Given the description of an element on the screen output the (x, y) to click on. 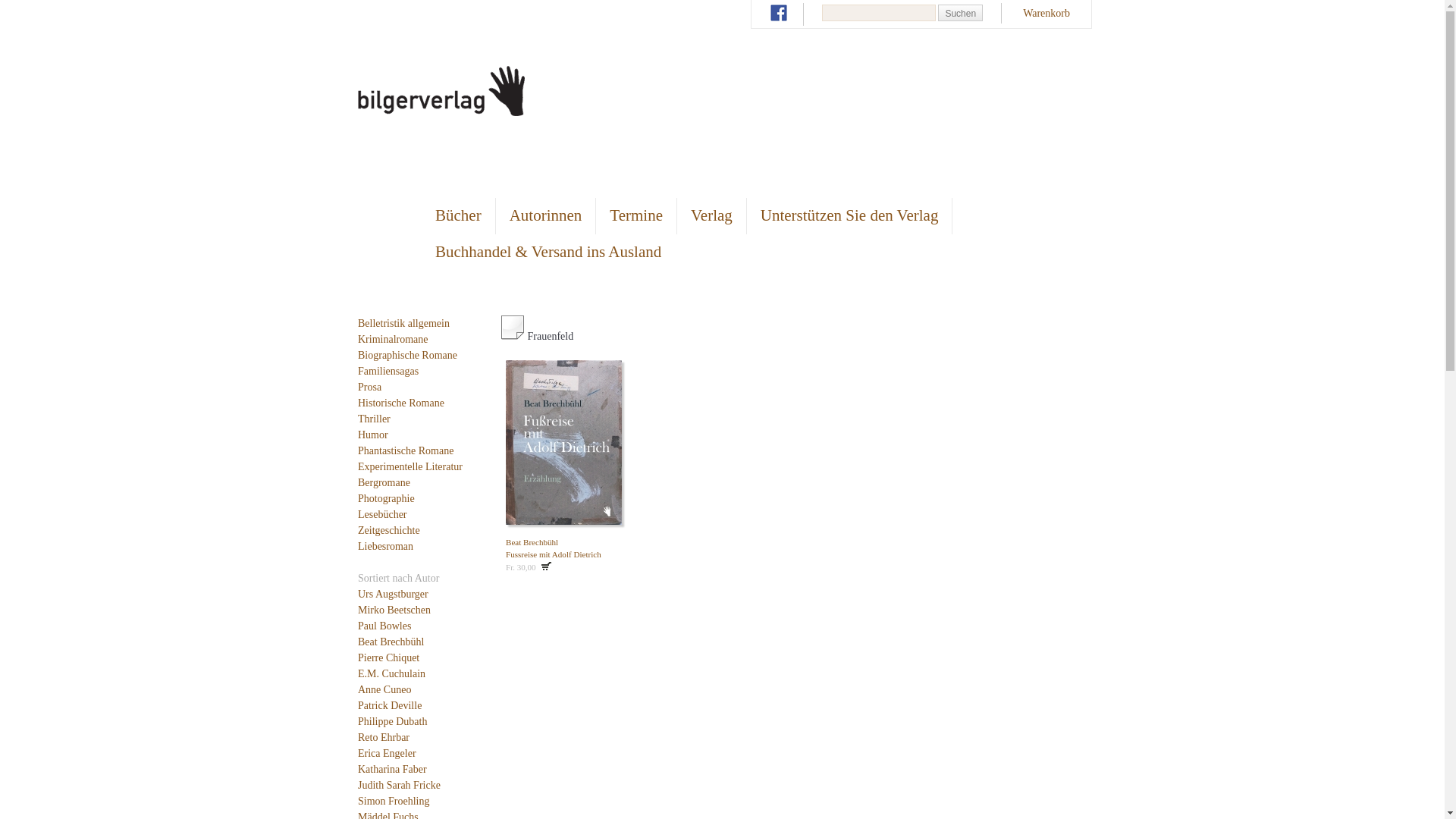
Thriller Element type: text (373, 417)
Liebesroman Element type: text (385, 545)
Humor Element type: text (372, 434)
Belletristik allgemein Element type: text (403, 322)
Buchhandel & Versand ins Ausland Element type: text (548, 251)
Historische Romane Element type: text (400, 402)
Suchen Element type: text (960, 12)
Kriminalromane Element type: text (392, 339)
Reto Ehrbar Element type: text (383, 736)
Katharina Faber Element type: text (391, 768)
Fussreise mit Adolf Dietrich Element type: text (553, 553)
E.M. Cuchulain Element type: text (391, 672)
Verlag Element type: text (711, 215)
Autorinnen Element type: text (545, 215)
Prosa Element type: text (369, 386)
Biographische Romane Element type: text (407, 354)
Patrick Deville Element type: text (389, 704)
Anne Cuneo Element type: text (384, 689)
Simon Froehling Element type: text (393, 800)
Urs Augstburger Element type: text (392, 593)
Pierre Chiquet Element type: text (388, 657)
Experimentelle Literatur Element type: text (409, 466)
Mirko Beetschen Element type: text (393, 609)
Philippe Dubath Element type: text (391, 721)
Paul Bowles Element type: text (384, 625)
Photographie Element type: text (385, 498)
Zeitgeschichte Element type: text (388, 530)
Frauenfeld Element type: hover (512, 327)
bilgerverlag Element type: hover (440, 112)
Judith Sarah Fricke Element type: text (398, 784)
Familiensagas Element type: text (387, 370)
Bergromane Element type: text (383, 481)
Erica Engeler Element type: text (386, 753)
Phantastische Romane Element type: text (405, 449)
Termine Element type: text (635, 215)
Warenkorb Element type: text (1046, 12)
